Given the description of an element on the screen output the (x, y) to click on. 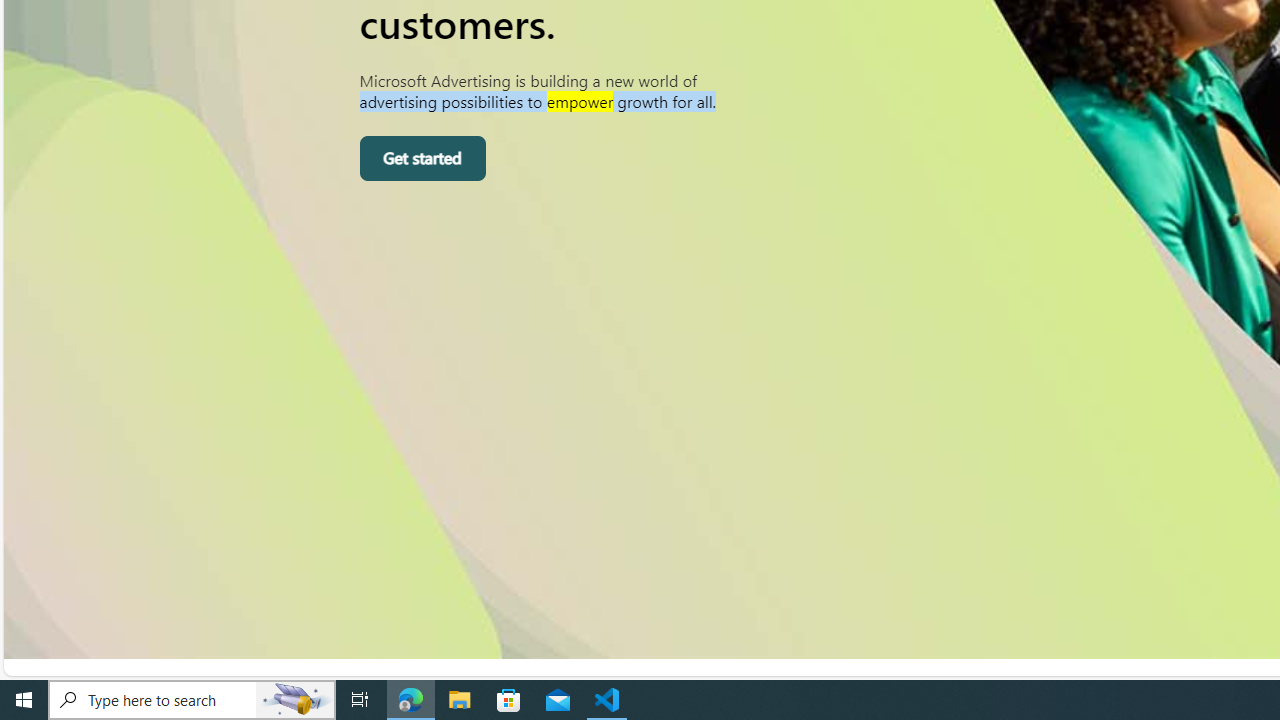
Get started (422, 159)
